Given the description of an element on the screen output the (x, y) to click on. 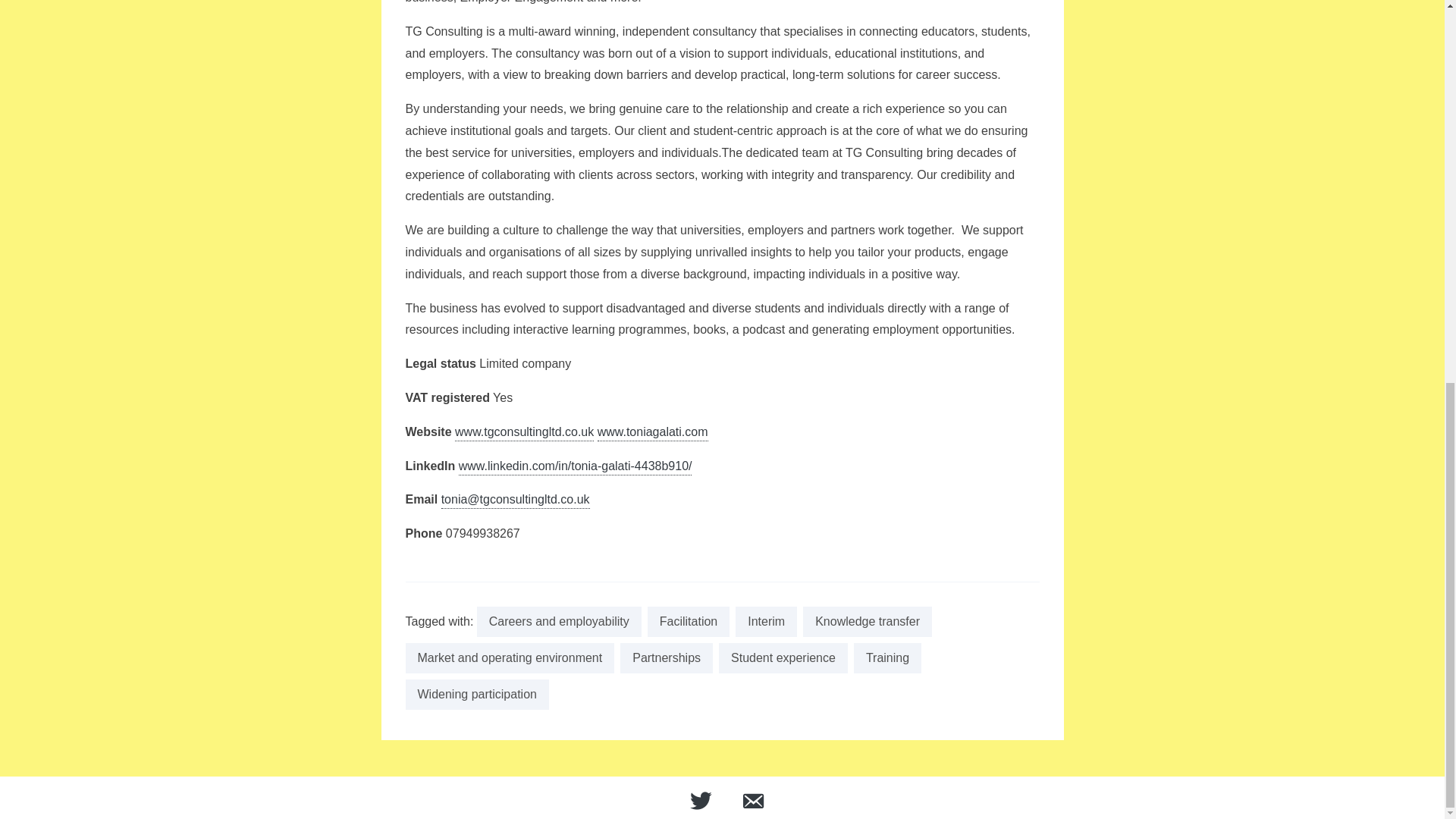
Facilitation (688, 621)
Widening participation (476, 694)
Market and operating environment (509, 657)
Partnerships (666, 657)
Careers and employability (559, 621)
www.toniagalati.com (651, 433)
Training (887, 657)
Student experience (783, 657)
Interim (765, 621)
www.tgconsultingltd.co.uk (524, 433)
